Given the description of an element on the screen output the (x, y) to click on. 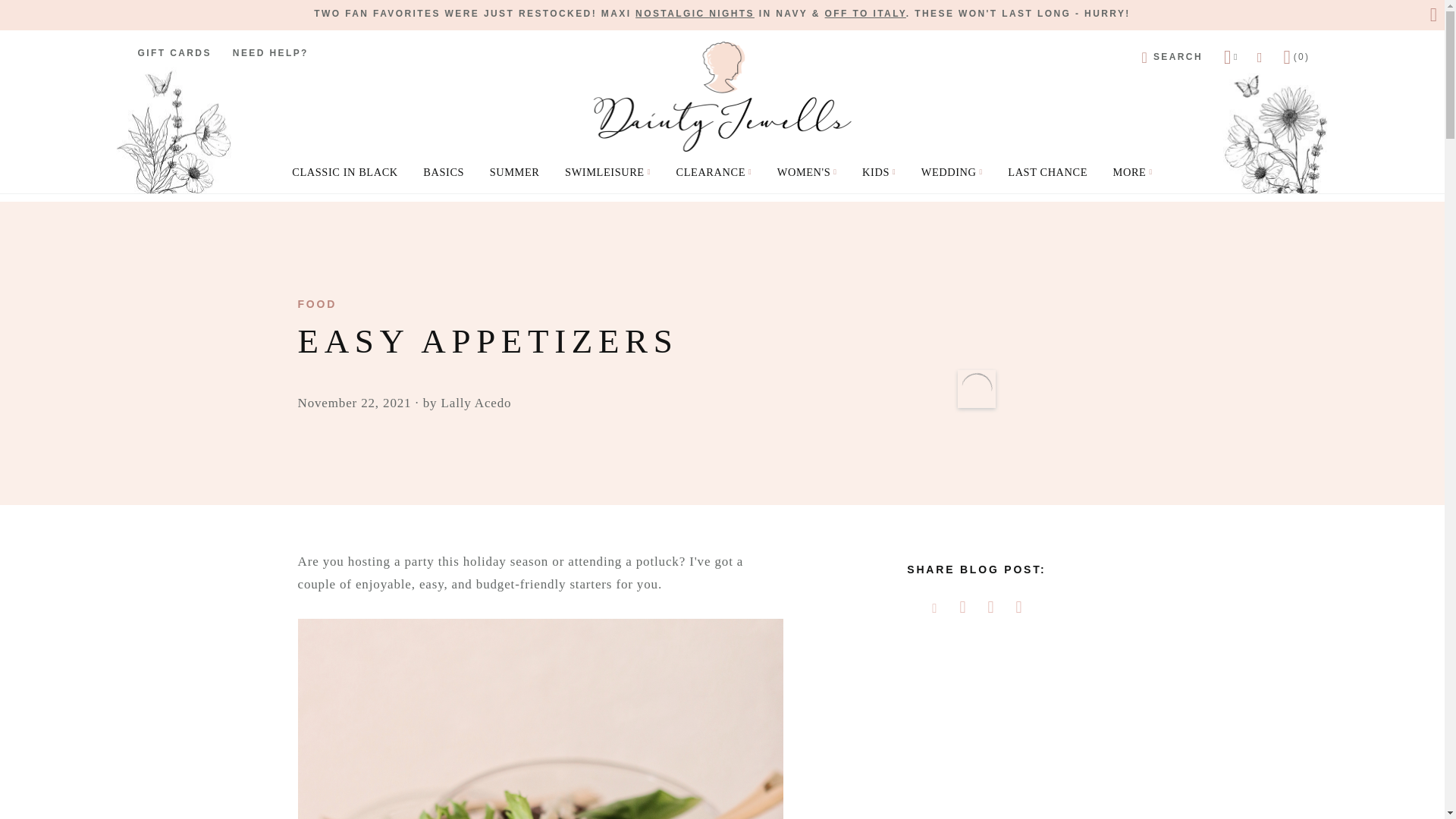
CLEARANCE (713, 171)
BASICS (443, 171)
CLASSIC IN BLACK (344, 171)
SWIMLEISURE (606, 171)
NOSTALGIC NIGHTS (694, 13)
SUMMER (514, 171)
WOMEN'S (807, 171)
OFF TO ITALY (865, 13)
